Given the description of an element on the screen output the (x, y) to click on. 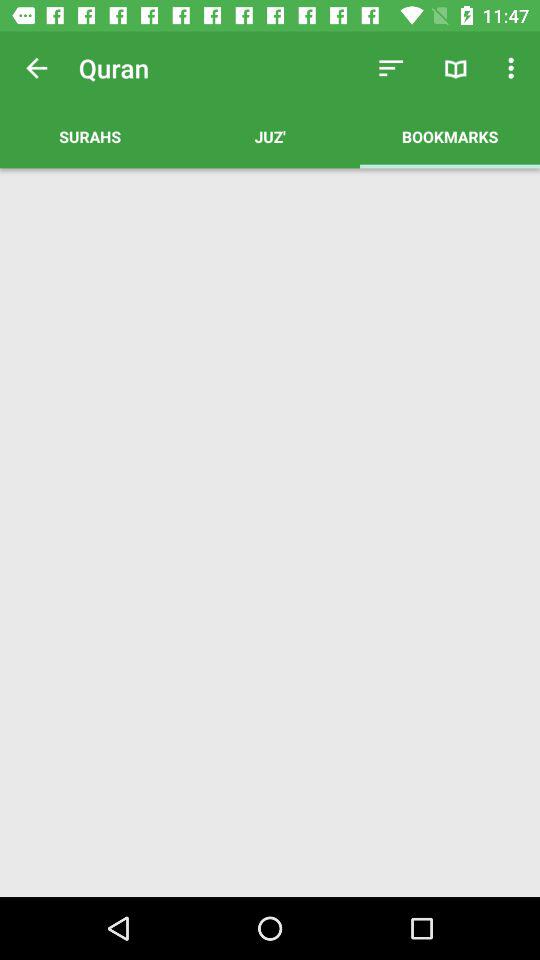
jump until the juz' item (270, 136)
